Given the description of an element on the screen output the (x, y) to click on. 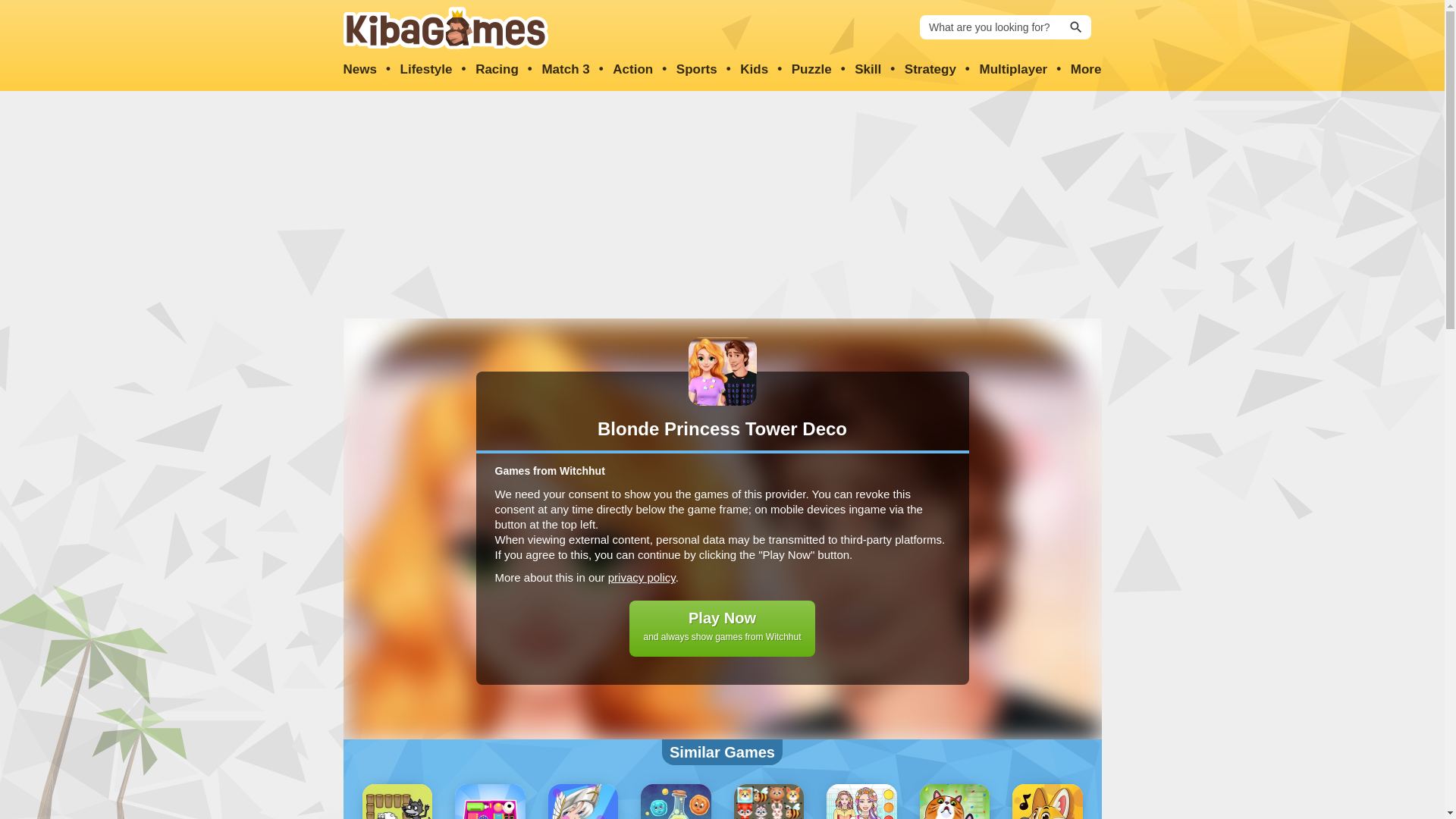
Sports (697, 69)
Match 3 (565, 69)
Action (632, 69)
Avatar Master: Fix Up Face (582, 801)
News (358, 69)
Lifestyle (426, 69)
More (1086, 69)
Blonde Princess Tower Deco (722, 371)
College Girl Coloring (861, 801)
Racing (497, 69)
Strategy (930, 69)
Skill (867, 69)
Organizer Master (489, 801)
Puzzle (811, 69)
privacy policy (641, 576)
